Given the description of an element on the screen output the (x, y) to click on. 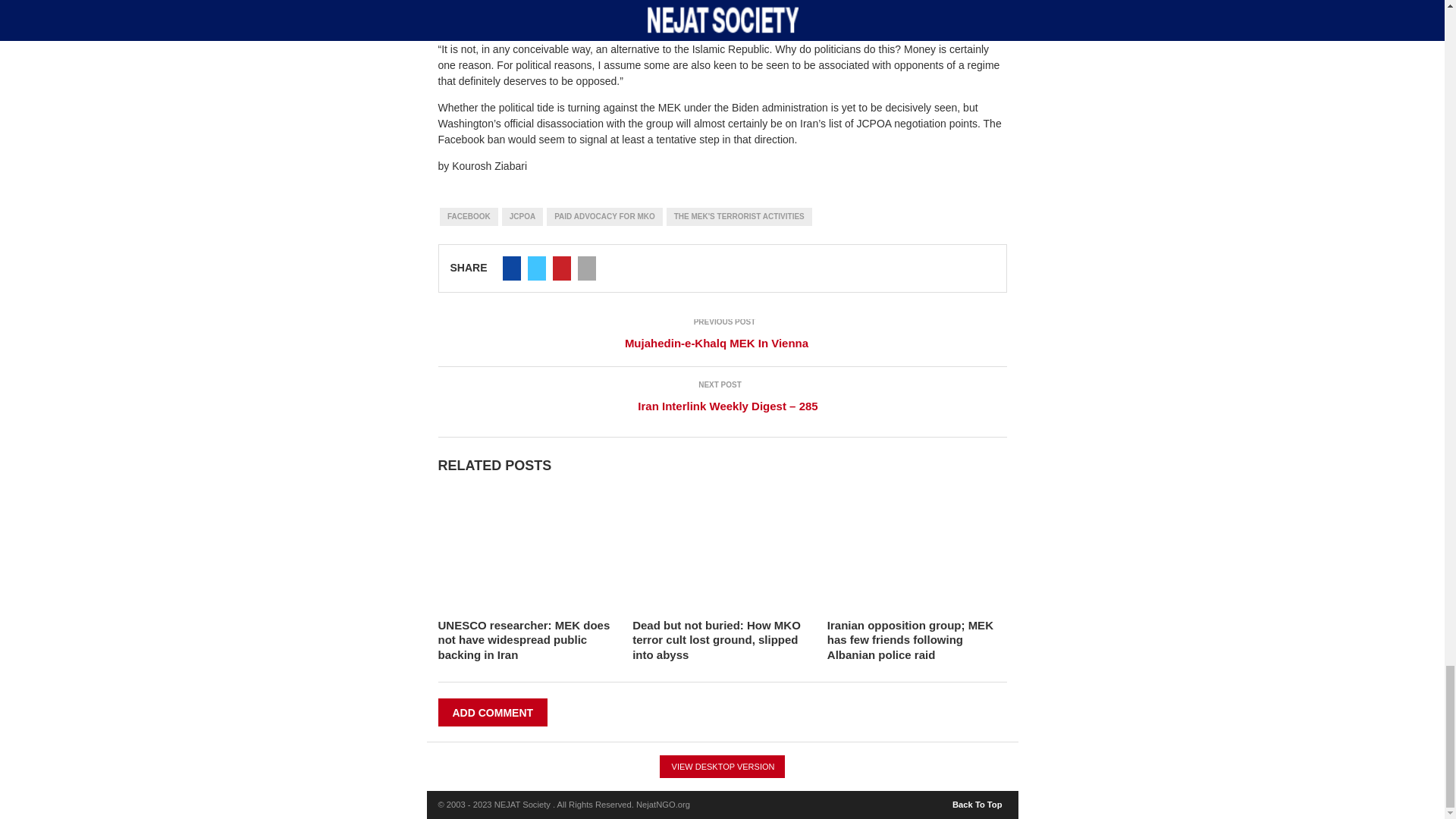
VIEW DESKTOP VERSION (722, 766)
THE MEK'S TERRORIST ACTIVITIES (739, 217)
PAID ADVOCACY FOR MKO (604, 217)
ADD COMMENT (493, 712)
JCPOA (522, 217)
FACEBOOK (468, 217)
Back To Top (979, 801)
Mujahedin-e-Khalq MEK In Vienna (722, 343)
